Given the description of an element on the screen output the (x, y) to click on. 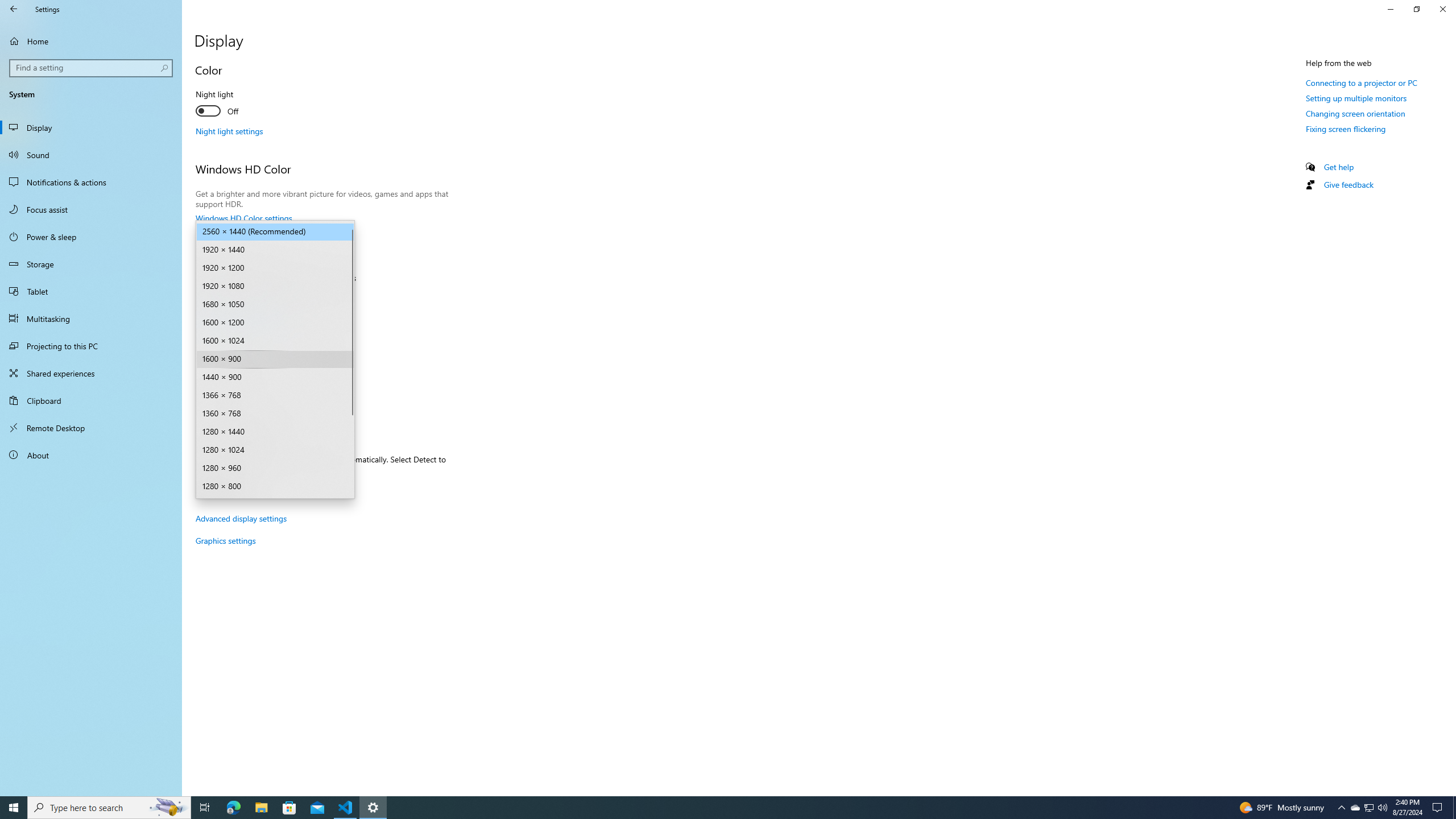
Changing screen orientation (1355, 113)
Display (91, 126)
Remote Desktop (91, 427)
Advanced display settings (240, 518)
Projecting to this PC (91, 345)
